Given the description of an element on the screen output the (x, y) to click on. 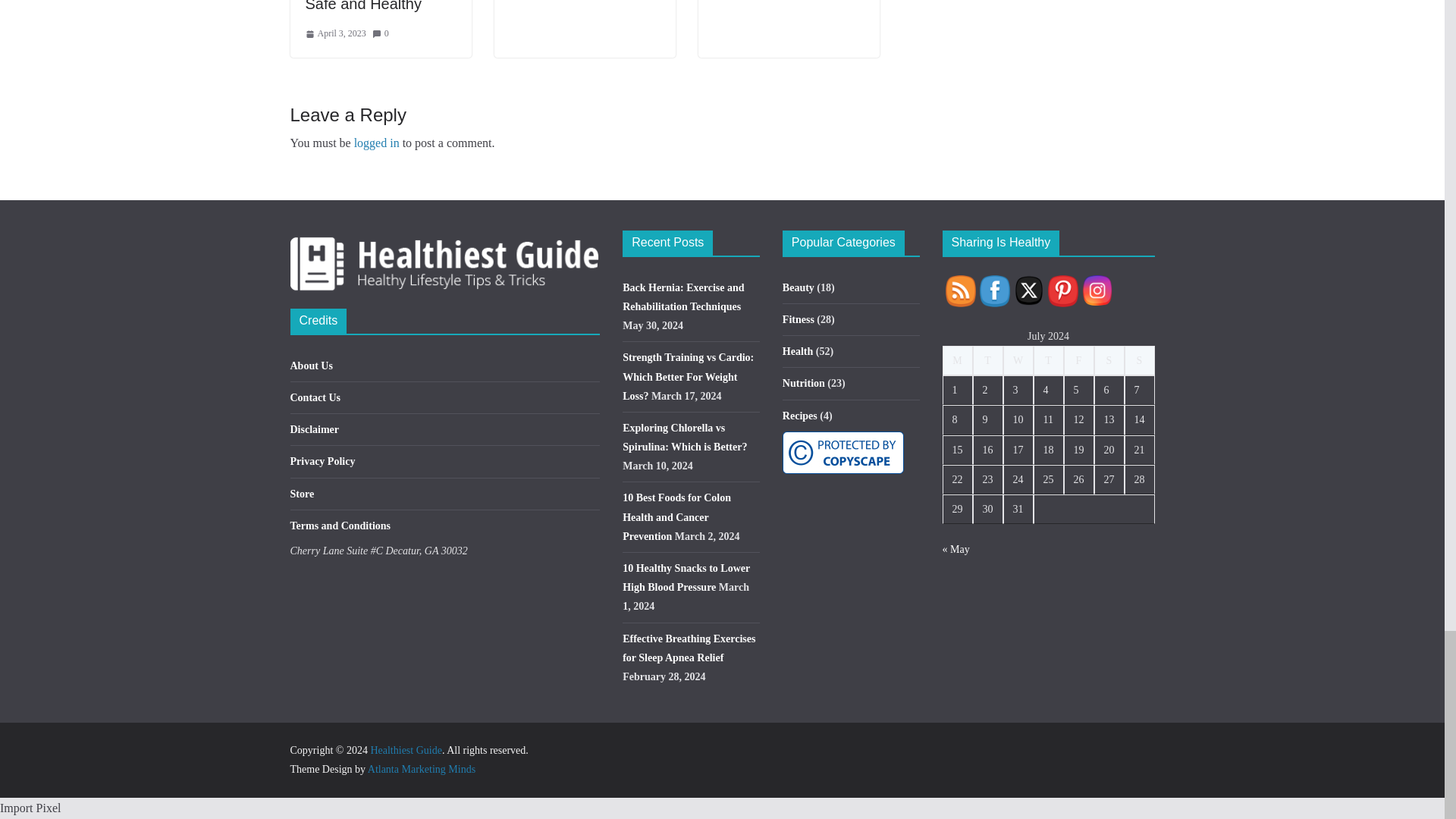
2:14 pm (334, 33)
